Given the description of an element on the screen output the (x, y) to click on. 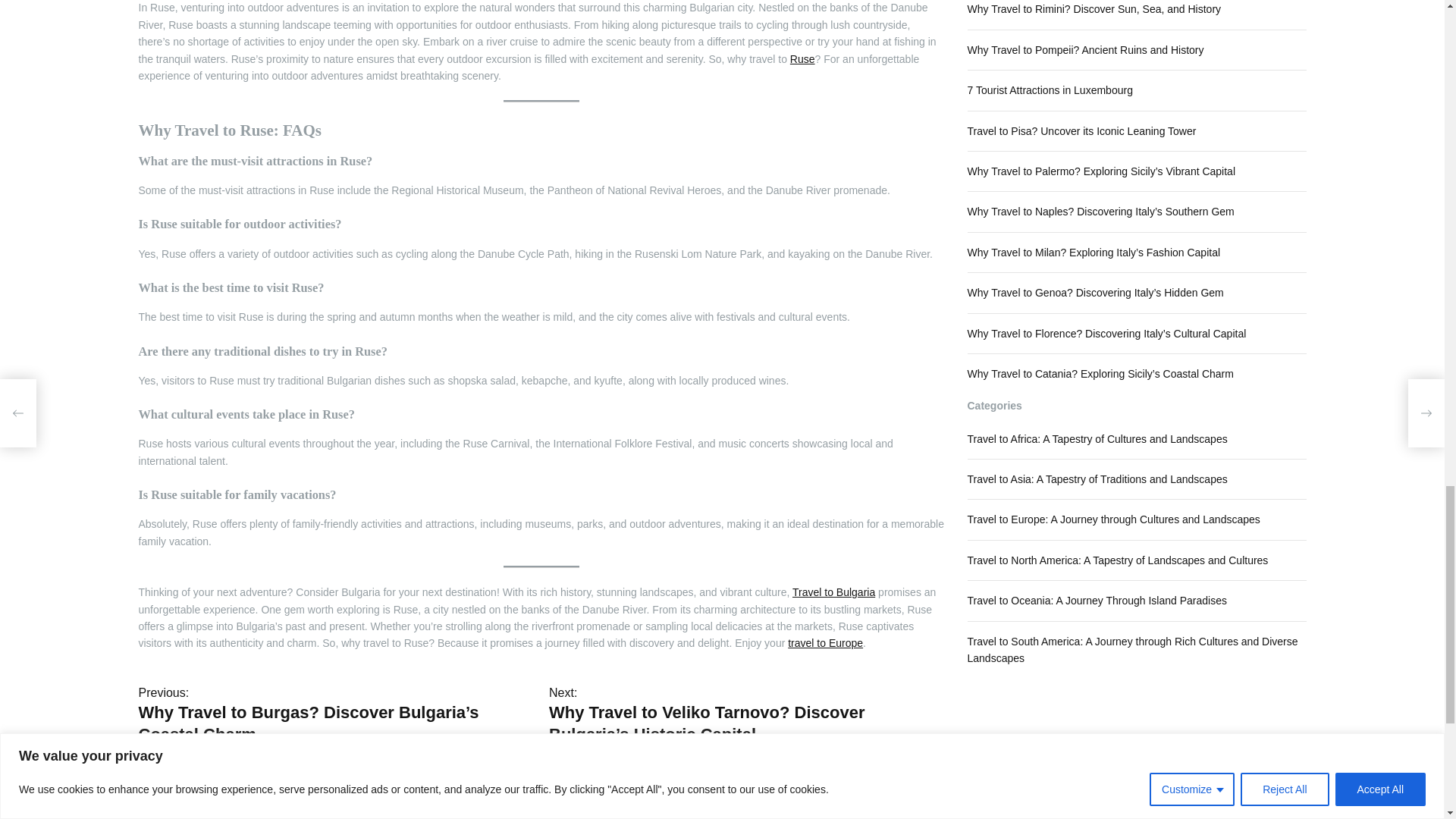
Ruse (802, 59)
Travel to Bulgaria (833, 592)
